Given the description of an element on the screen output the (x, y) to click on. 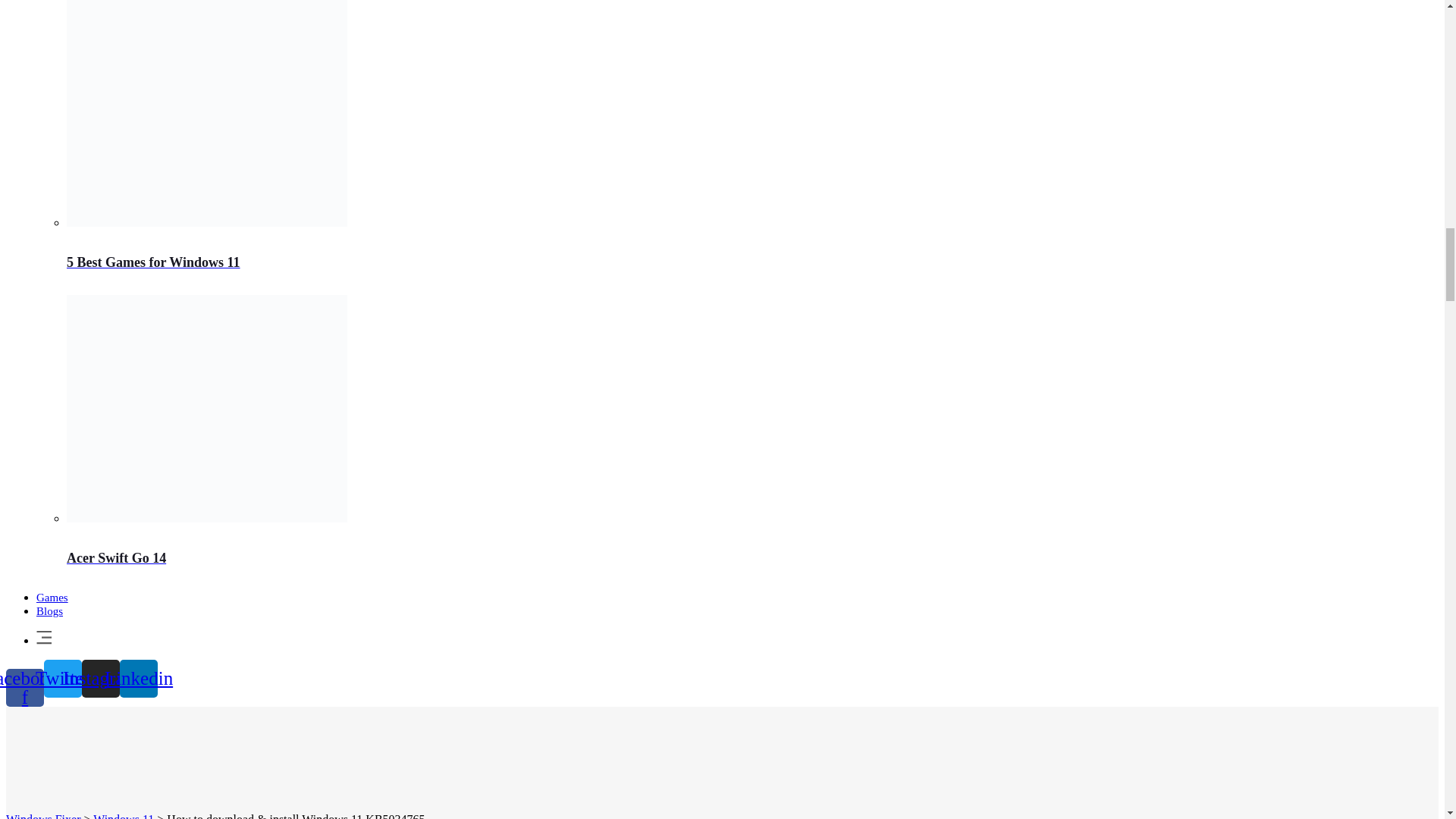
Linkedin (138, 678)
Facebook-f (24, 687)
Games (52, 597)
Go to Windows Fixer. (42, 816)
Instagram (100, 678)
Blogs (49, 611)
Go to the Windows 11 Category archives. (123, 816)
Windows 11 (123, 816)
Windows Fixer (42, 816)
Twitter (62, 678)
